Given the description of an element on the screen output the (x, y) to click on. 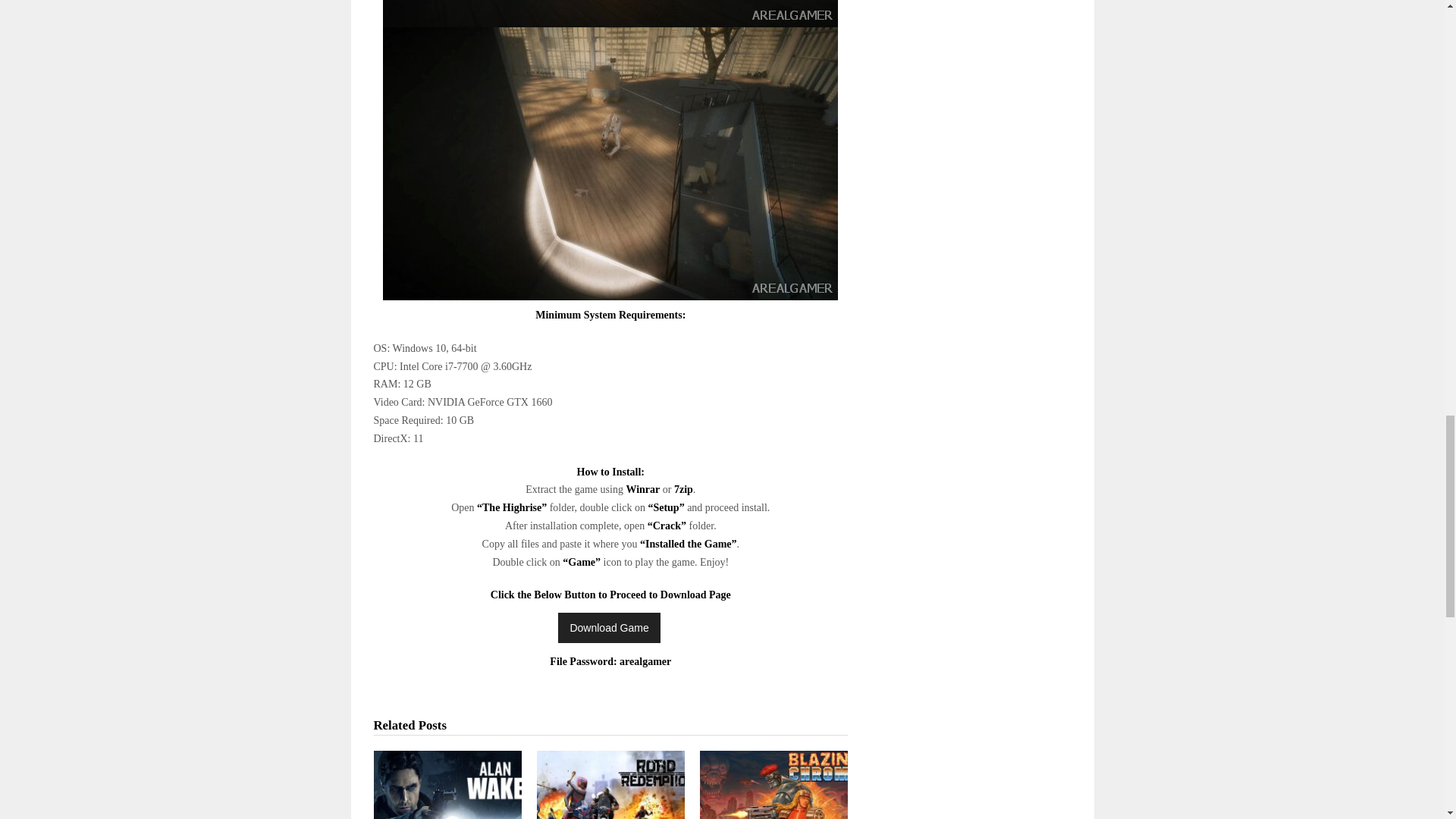
Alan Wake (446, 785)
Blazing Chrome (773, 785)
Download Game (608, 627)
Download Game (608, 627)
Road Redemption (610, 785)
